Given the description of an element on the screen output the (x, y) to click on. 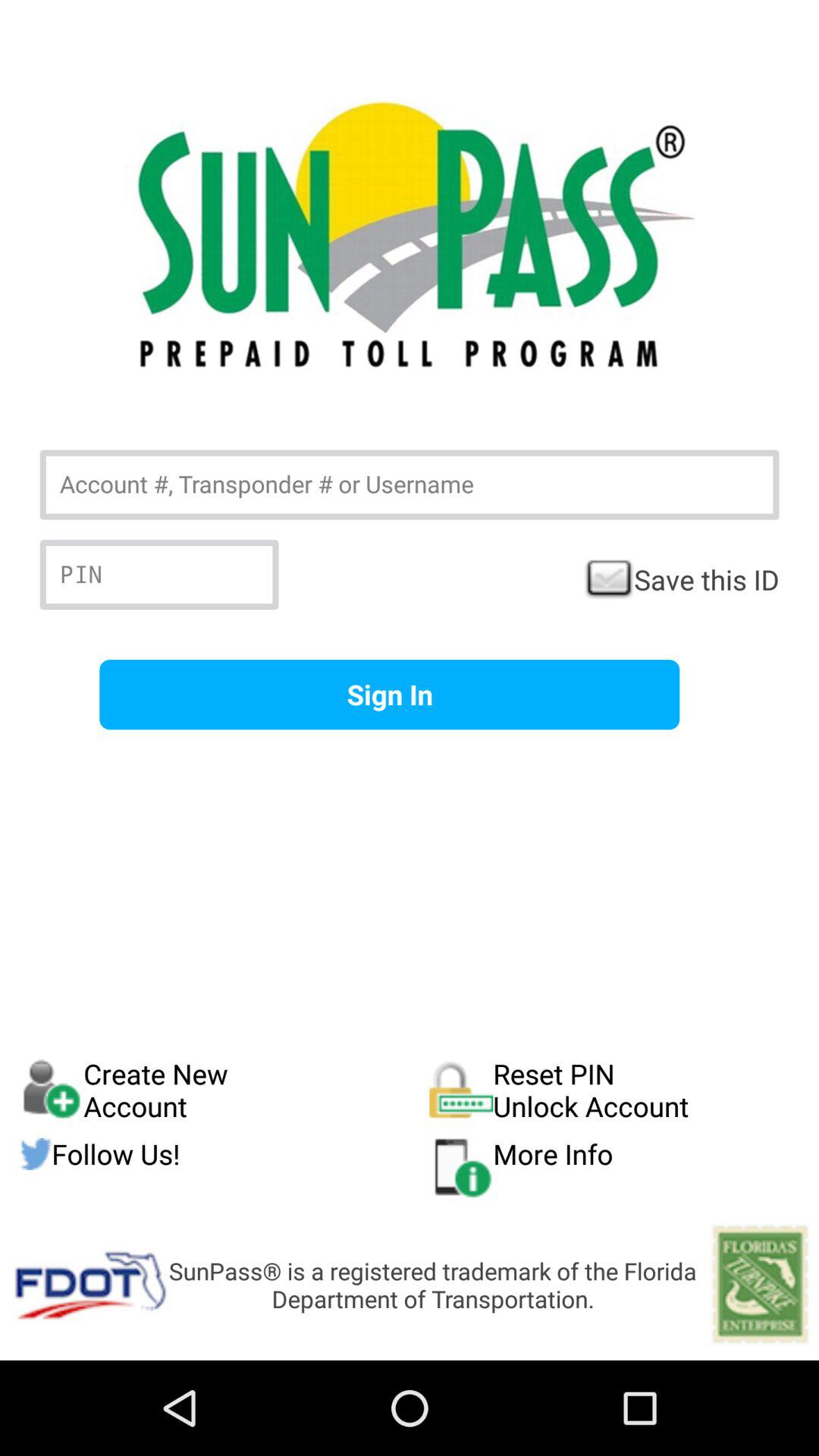
open the item to the right of create new
account icon (614, 1089)
